Given the description of an element on the screen output the (x, y) to click on. 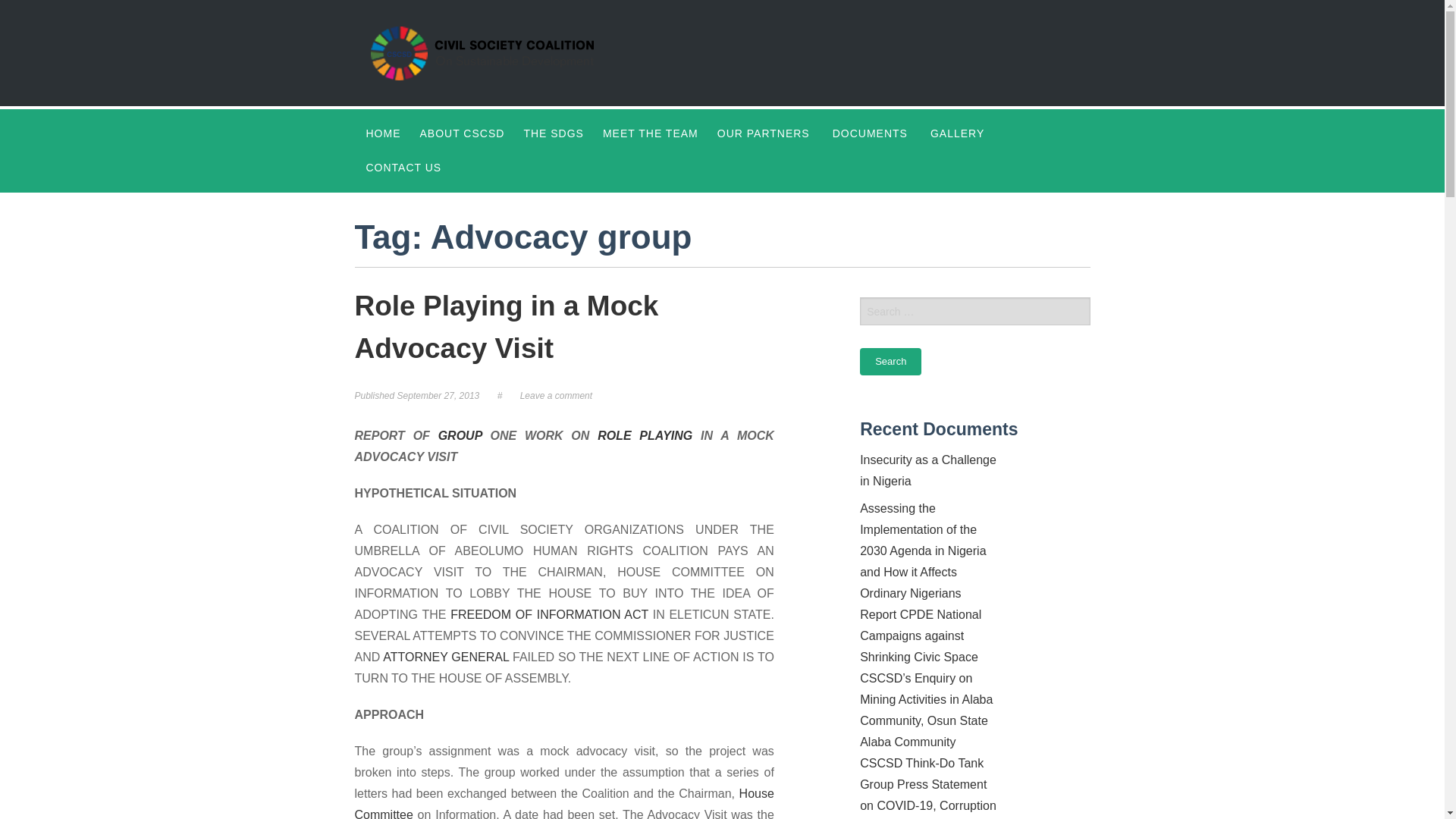
Advocacy group (459, 435)
OUR PARTNERS (763, 133)
Search (890, 361)
MEMBERSHIP (458, 236)
HOME (383, 133)
THE BOARD (646, 167)
THE SDGS (553, 133)
Role-playing (644, 435)
ABOUT CSCSD (462, 133)
Search (890, 361)
